Given the description of an element on the screen output the (x, y) to click on. 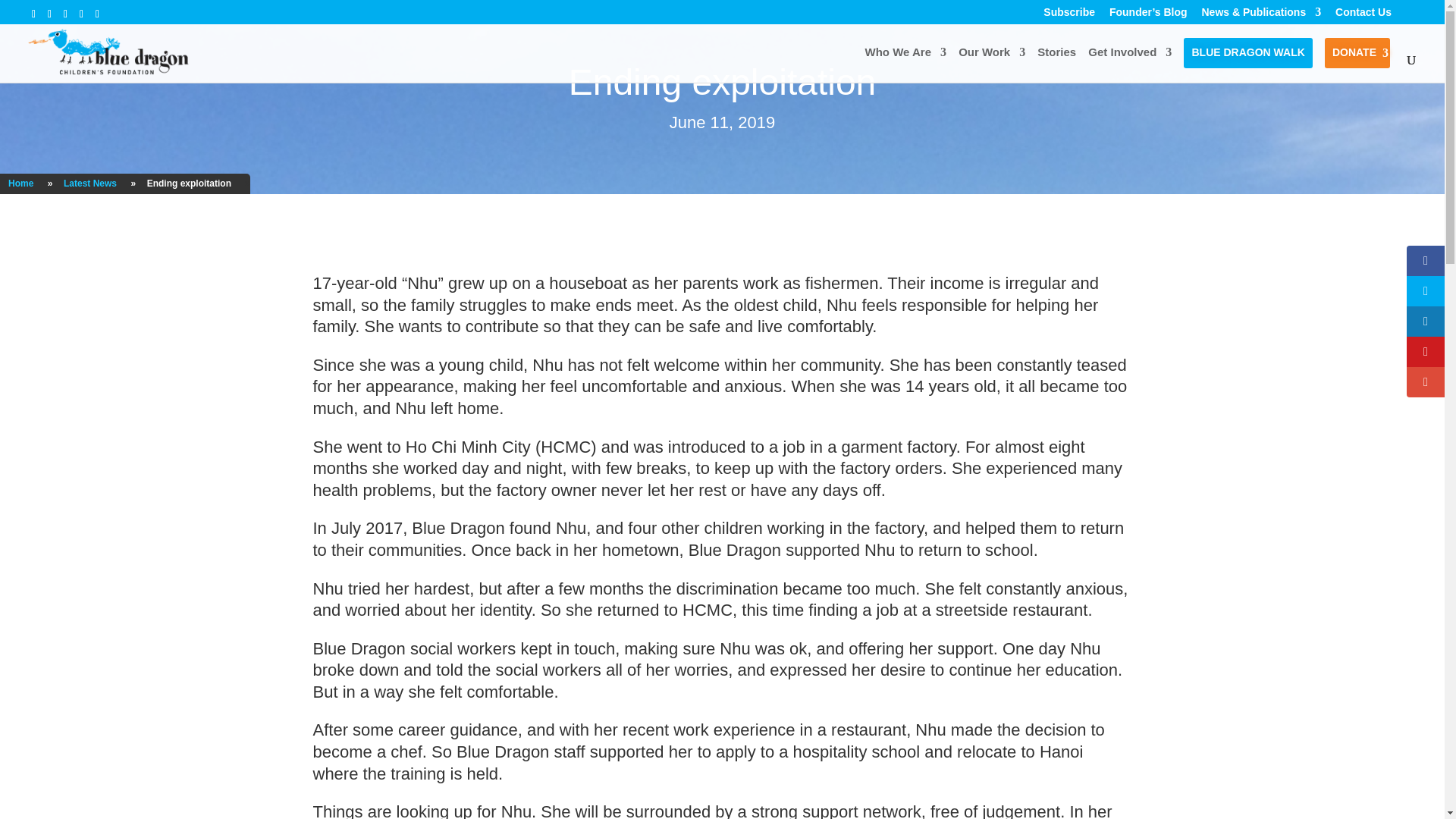
Latest News (89, 183)
Our Work (991, 63)
Get Involved (1129, 63)
Ending exploitation (188, 183)
Subscribe (1068, 12)
Who We Are (905, 63)
Home (20, 183)
Stories (1055, 63)
Contact Us (1363, 12)
